Given the description of an element on the screen output the (x, y) to click on. 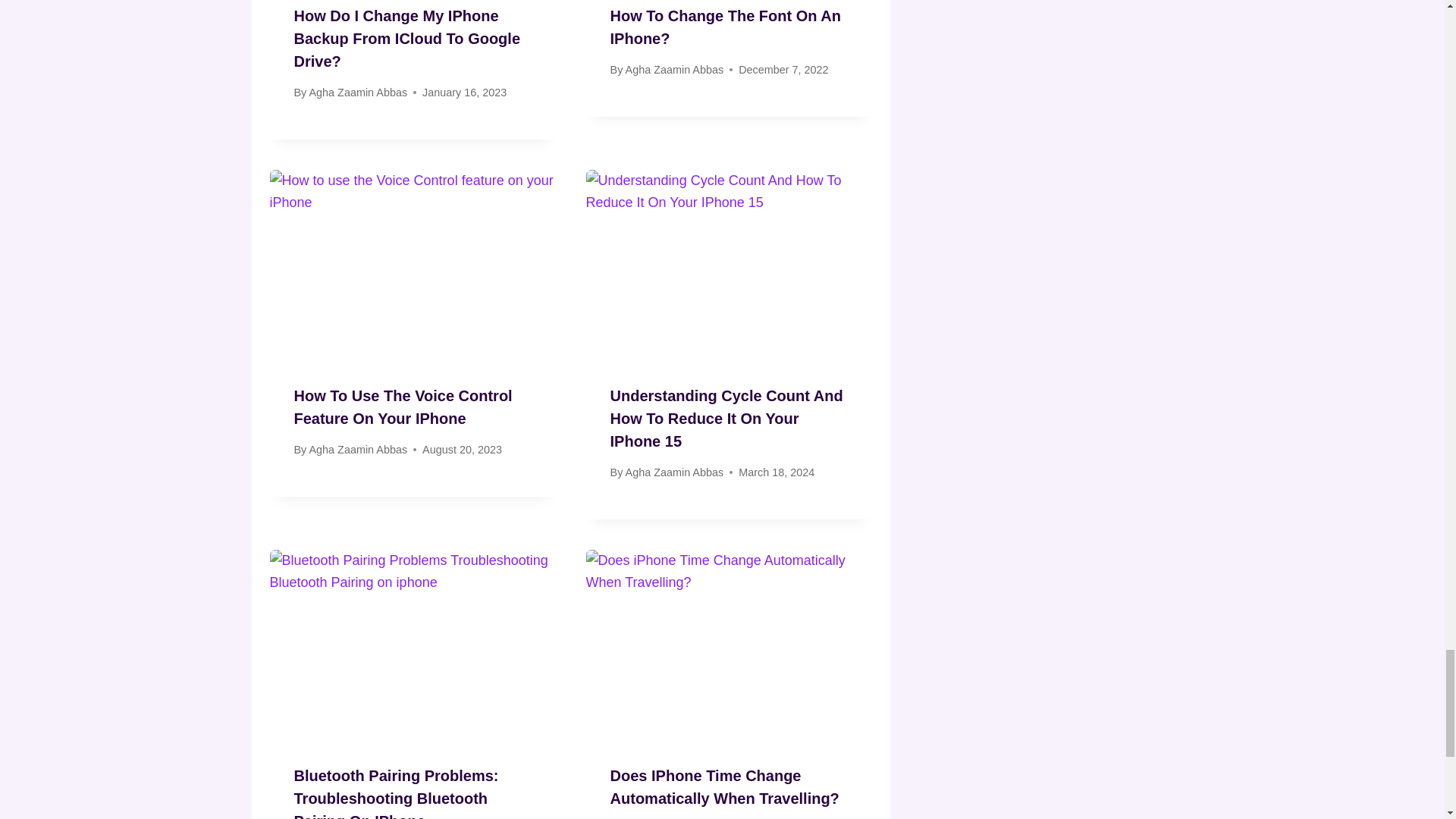
How to Use the Voice Control Feature on Your iPhone 4 (412, 264)
Agha Zaamin Abbas (357, 92)
Does iPhone Time Change Automatically When Travelling? 7 (729, 644)
